Given the description of an element on the screen output the (x, y) to click on. 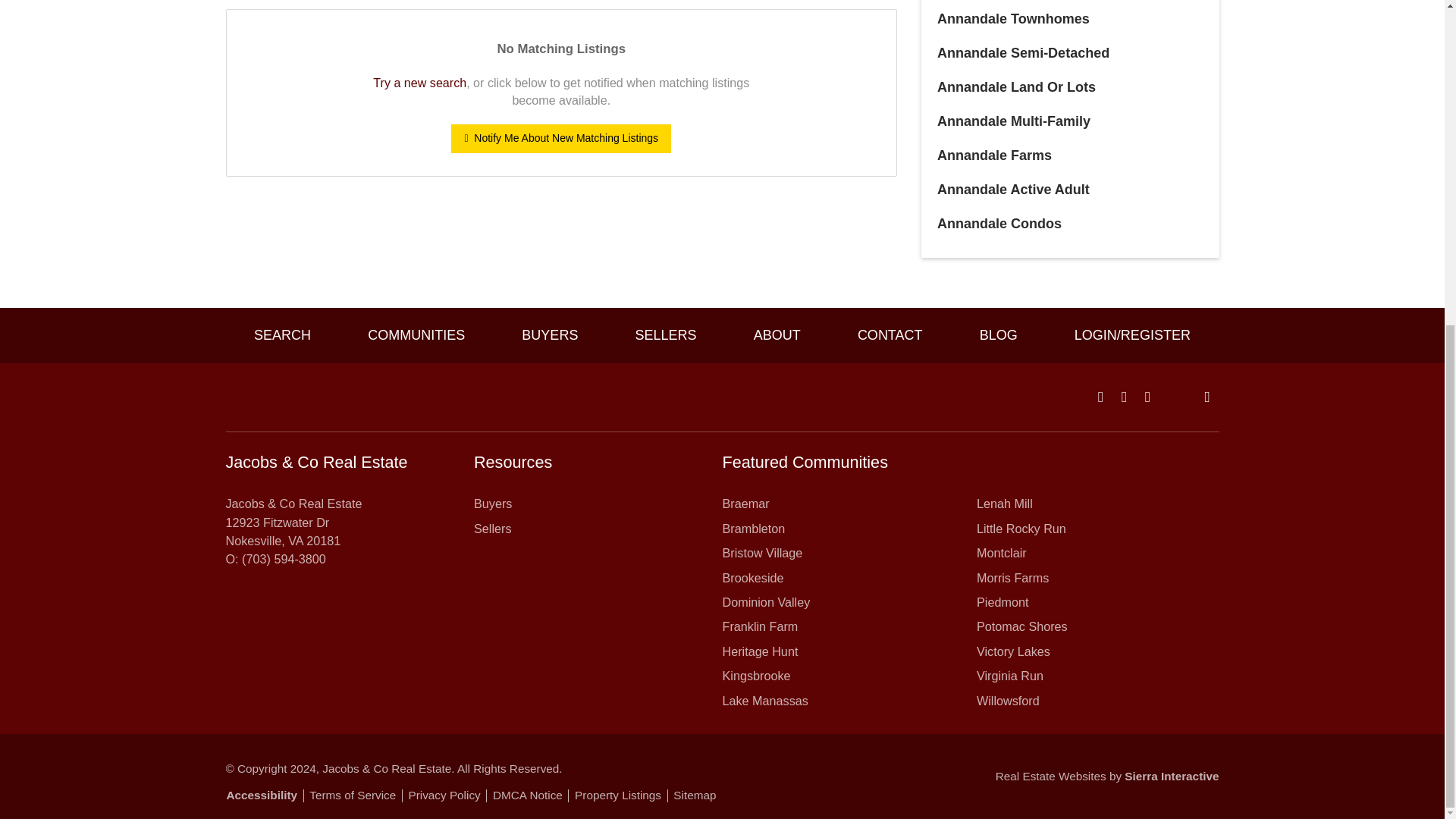
Follow us on Twitter (1167, 397)
Follow us on Facebook (1100, 397)
Follow us on YouTube (1123, 397)
Follow us on LinkedIn (1207, 397)
Follow us on Zillow (1186, 397)
Home Page (334, 396)
Follow us on Instagram (1146, 397)
